Given the description of an element on the screen output the (x, y) to click on. 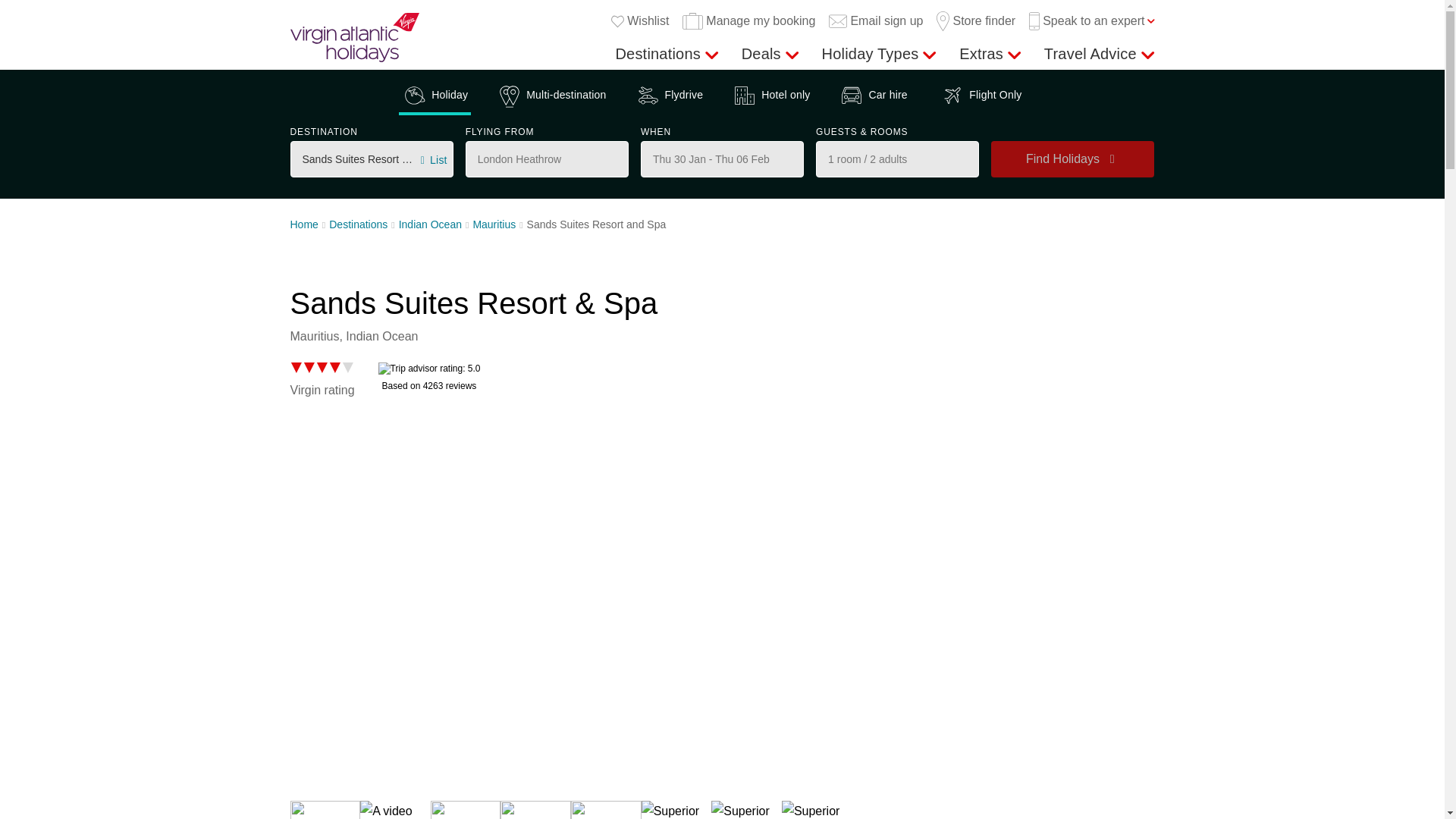
0344 472 9646 (1137, 45)
Destinations (666, 53)
Manage my booking (748, 20)
Wishlist (639, 20)
Store finder (975, 20)
Help centre (1187, 49)
